Given the description of an element on the screen output the (x, y) to click on. 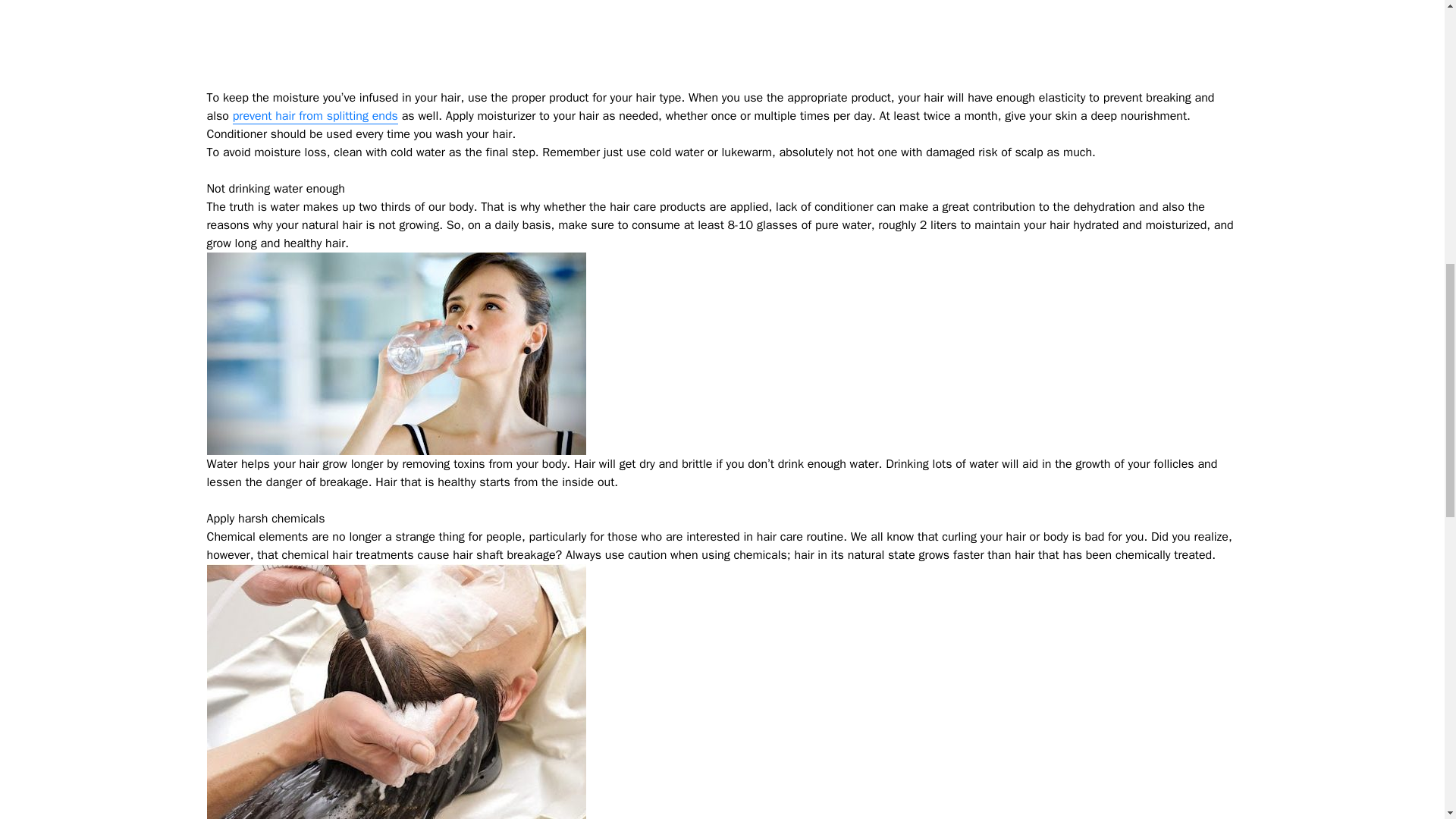
prevent hair from splitting ends (314, 116)
